Given the description of an element on the screen output the (x, y) to click on. 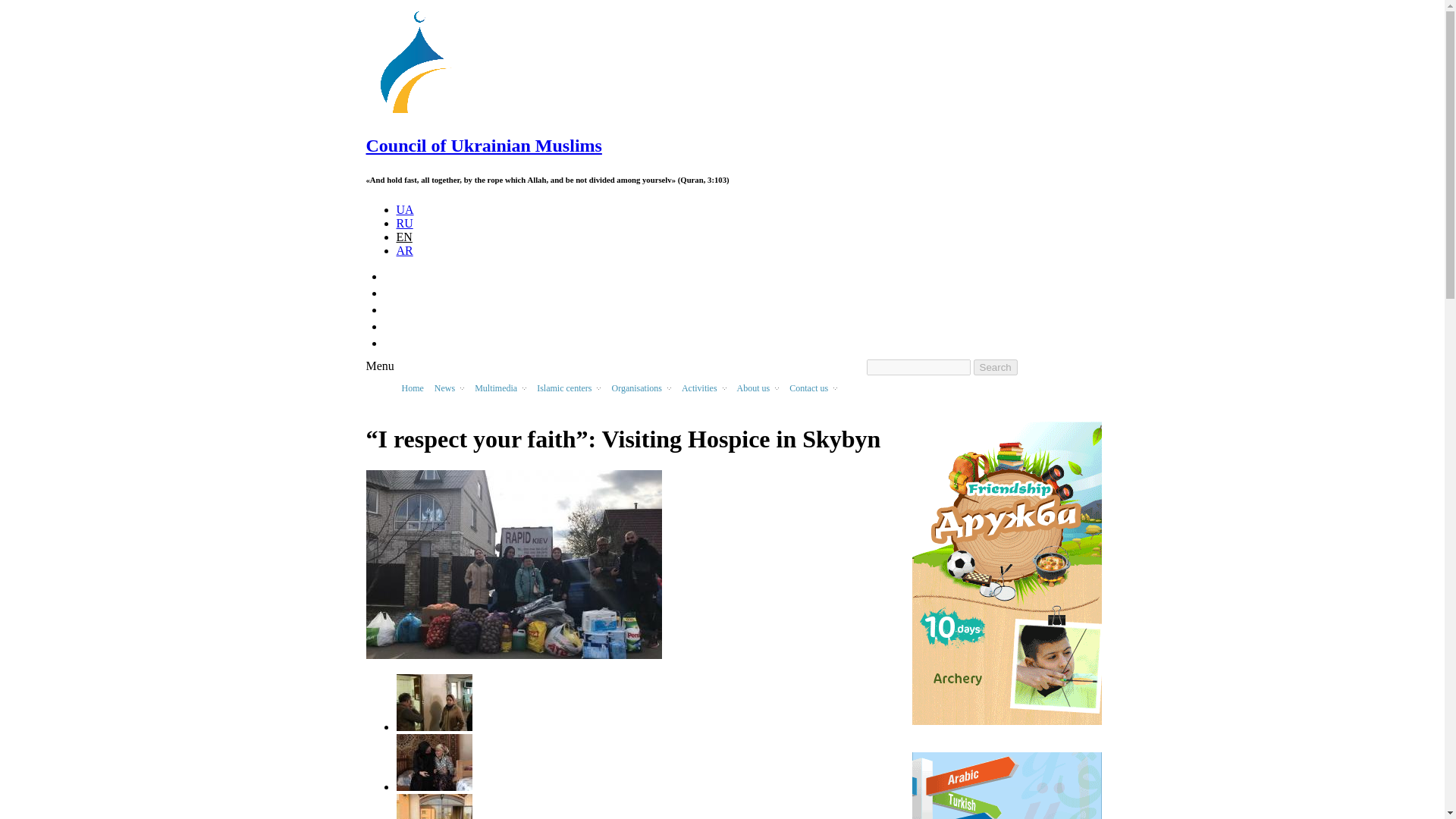
AR (404, 250)
RU (404, 223)
UA (404, 209)
EN (404, 236)
Home (419, 113)
Home (483, 145)
Home (412, 391)
Multimedia (499, 391)
Islamic centers (568, 391)
Search (995, 367)
Council of Ukrainian Muslims (483, 145)
News (448, 391)
